Given the description of an element on the screen output the (x, y) to click on. 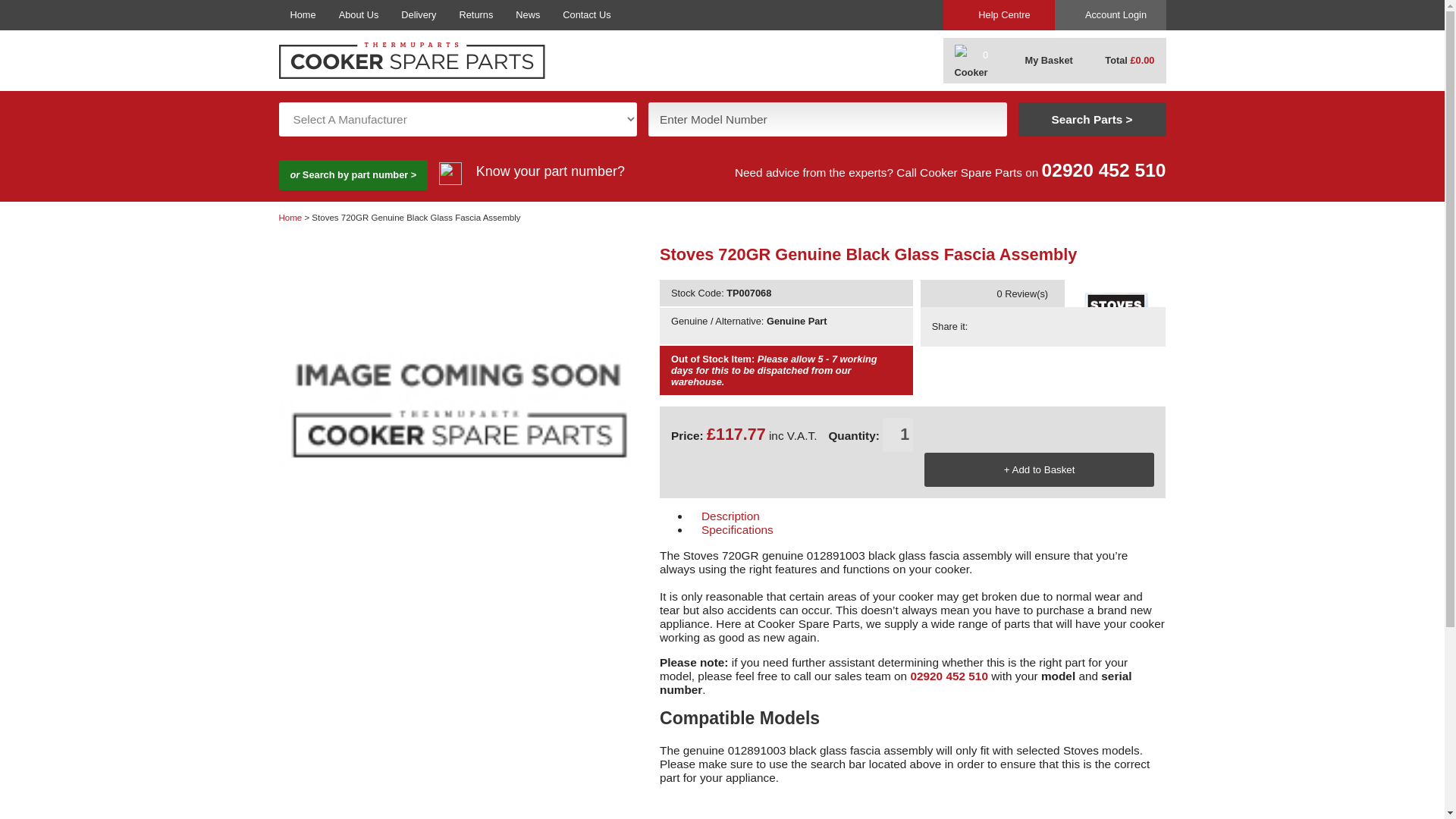
02920 452 510 (949, 675)
Contact Us (586, 15)
Returns (476, 15)
Description (809, 516)
My Basket (1038, 60)
Stoves 720GR Genuine Black Glass Fascia Assembly (963, 293)
News (527, 15)
Delivery (418, 15)
Account Login (1110, 15)
About Us (358, 15)
